Given the description of an element on the screen output the (x, y) to click on. 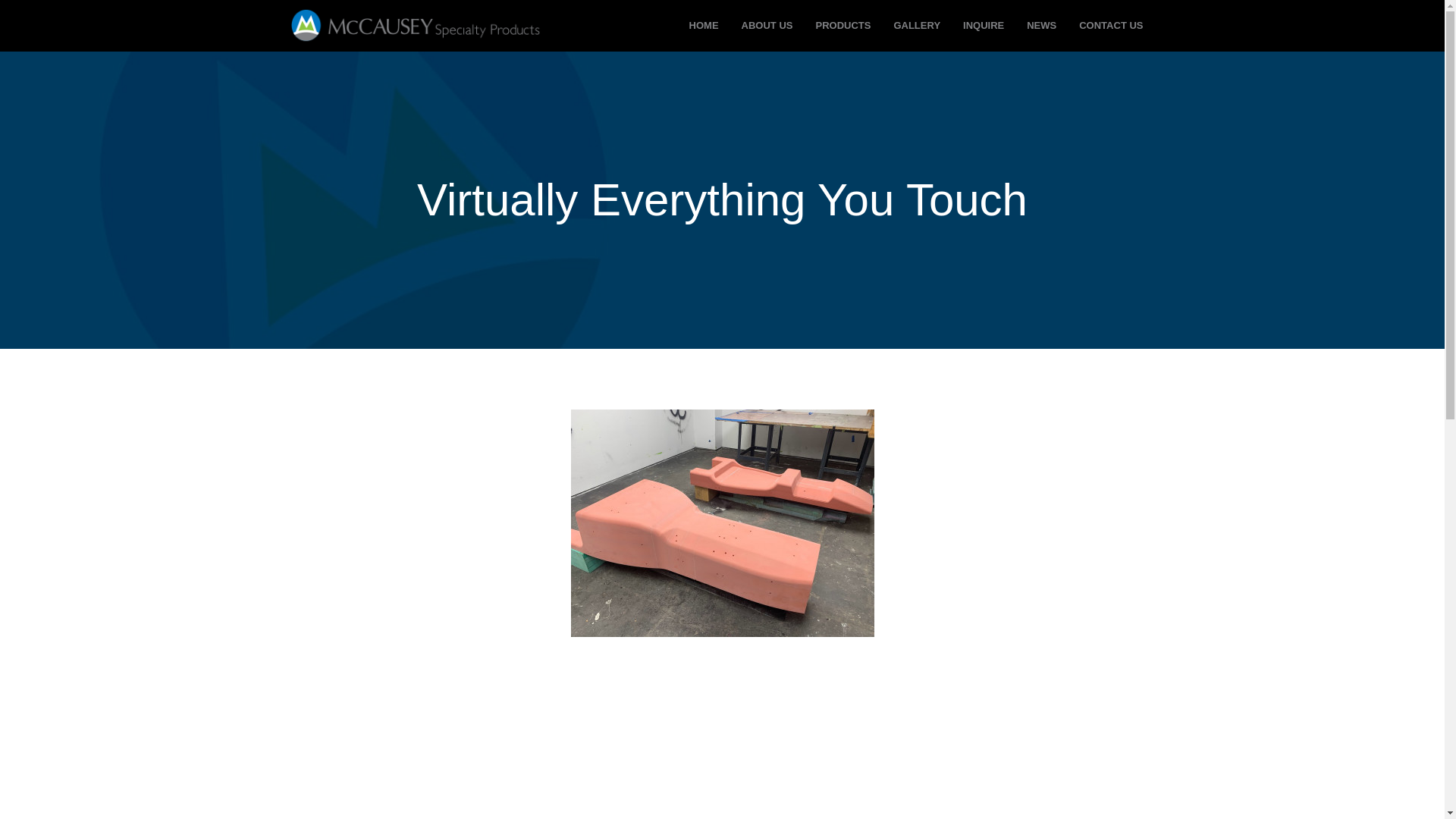
CONTACT US (1110, 25)
CONTACT US (1110, 25)
PRODUCTS (842, 25)
ABOUT US (767, 25)
INQUIRE (983, 25)
ABOUT US (767, 25)
NEWS (1040, 25)
HOME (704, 25)
GALLERY (917, 25)
